Given the description of an element on the screen output the (x, y) to click on. 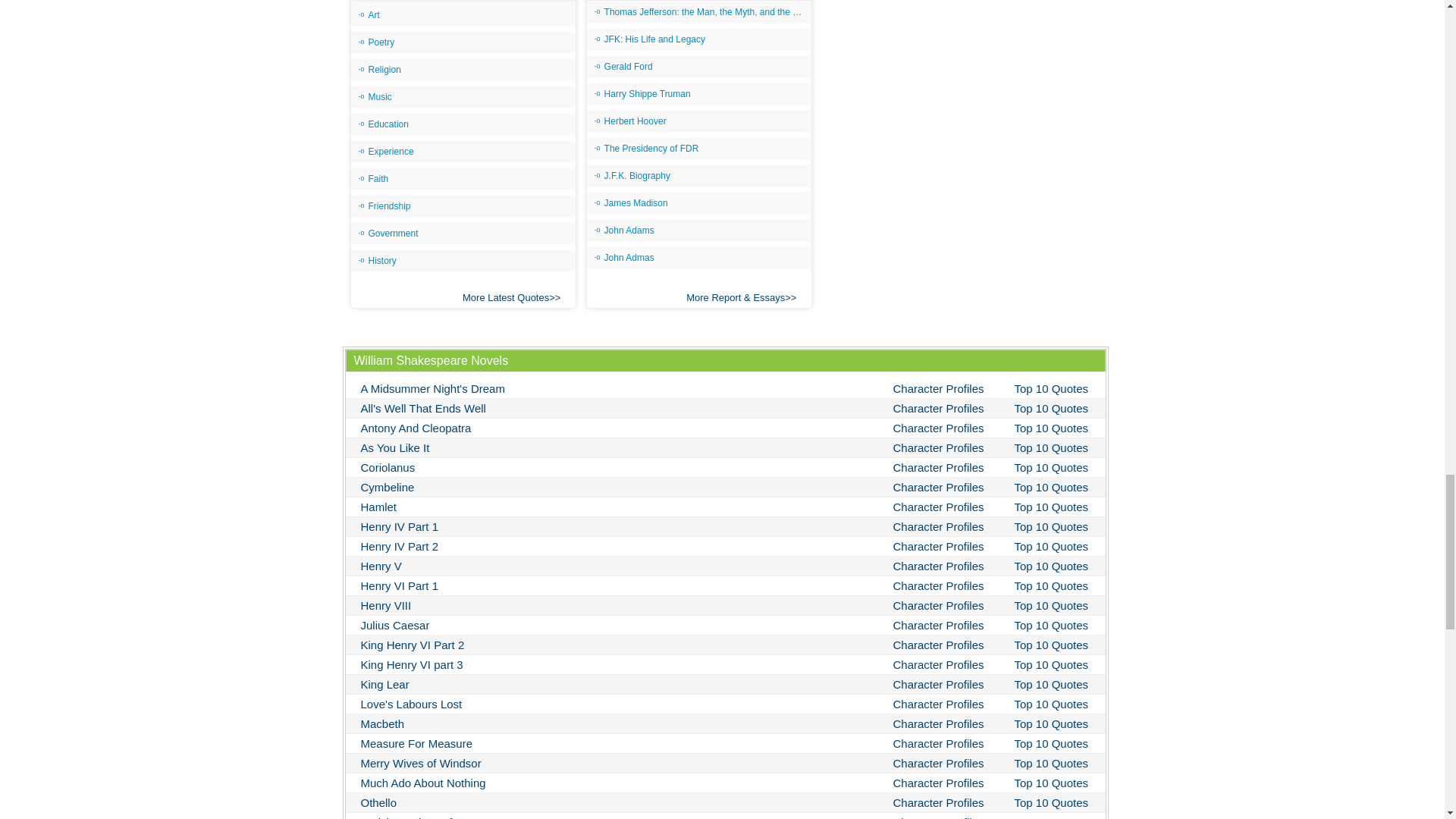
Quotes on Art and Showbiz (462, 15)
Quotes on Poet and Poetry (462, 42)
